Given the description of an element on the screen output the (x, y) to click on. 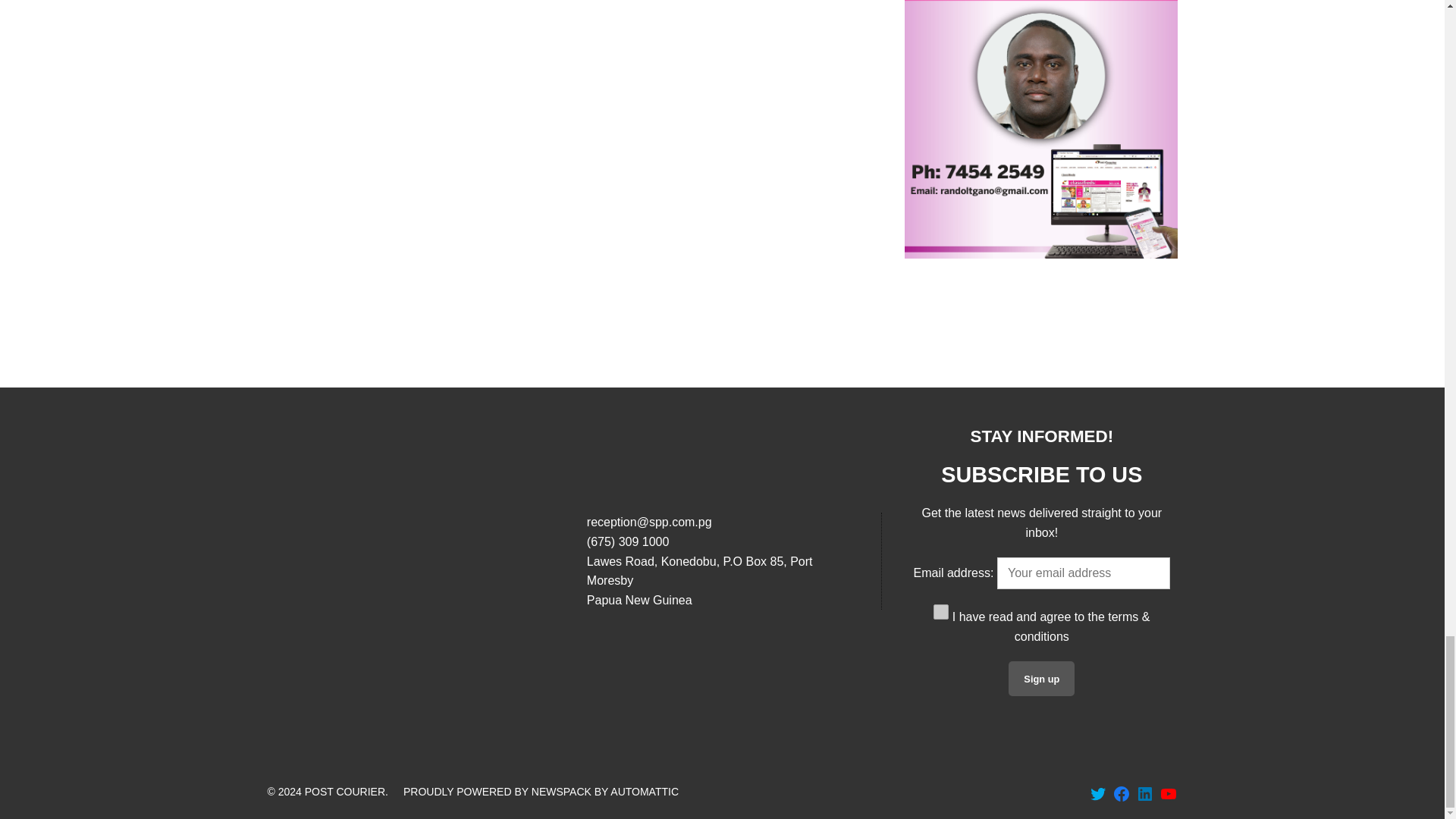
1 (941, 611)
Sign up (1041, 678)
Open address in Google Maps (721, 581)
